Given the description of an element on the screen output the (x, y) to click on. 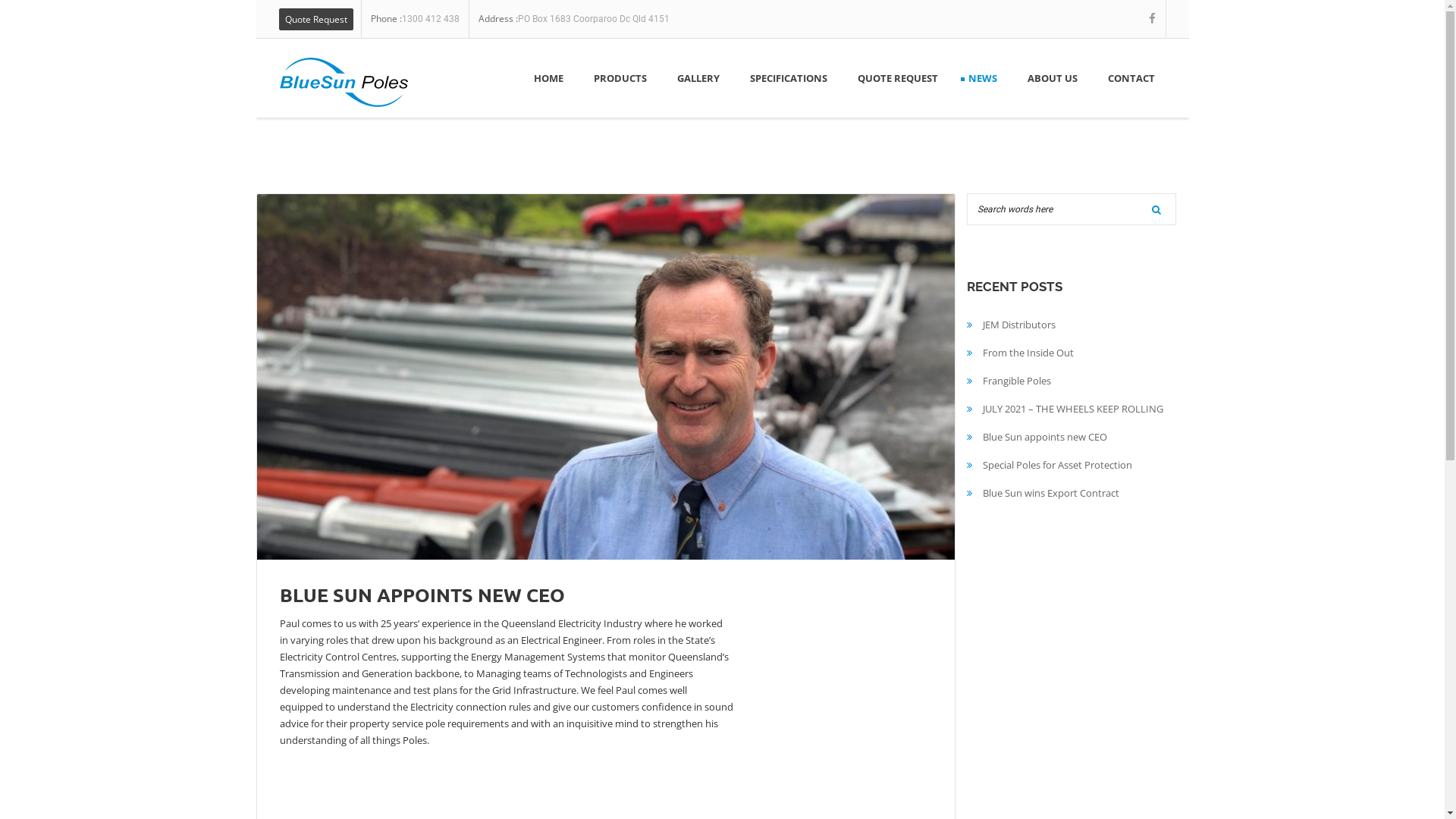
ABOUT US Element type: text (1048, 77)
Quote Request Element type: text (316, 18)
GALLERY Element type: text (694, 77)
QUOTE REQUEST Element type: text (893, 77)
JEM Distributors Element type: text (1018, 324)
From the Inside Out Element type: text (1027, 352)
CONTACT Element type: text (1127, 77)
Blue Sun appoints new CEO Element type: text (1044, 436)
Special Poles for Asset Protection Element type: text (1057, 464)
SPECIFICATIONS Element type: text (784, 77)
Frangible Poles Element type: text (1016, 380)
HOME Element type: text (544, 77)
NEWS Element type: text (978, 77)
Blue Sun wins Export Contract Element type: text (1050, 492)
PRODUCTS Element type: text (616, 77)
